Given the description of an element on the screen output the (x, y) to click on. 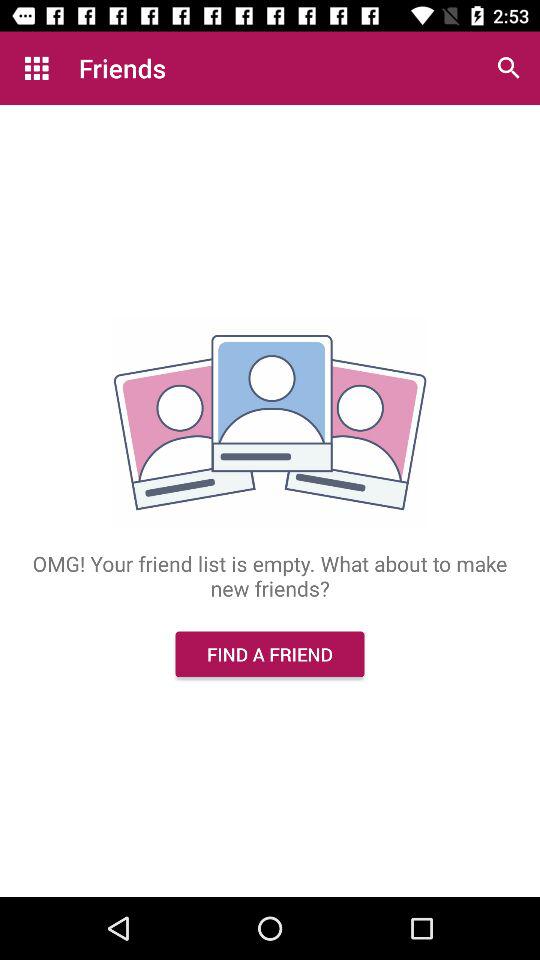
choose the icon above omg your friend (508, 67)
